Given the description of an element on the screen output the (x, y) to click on. 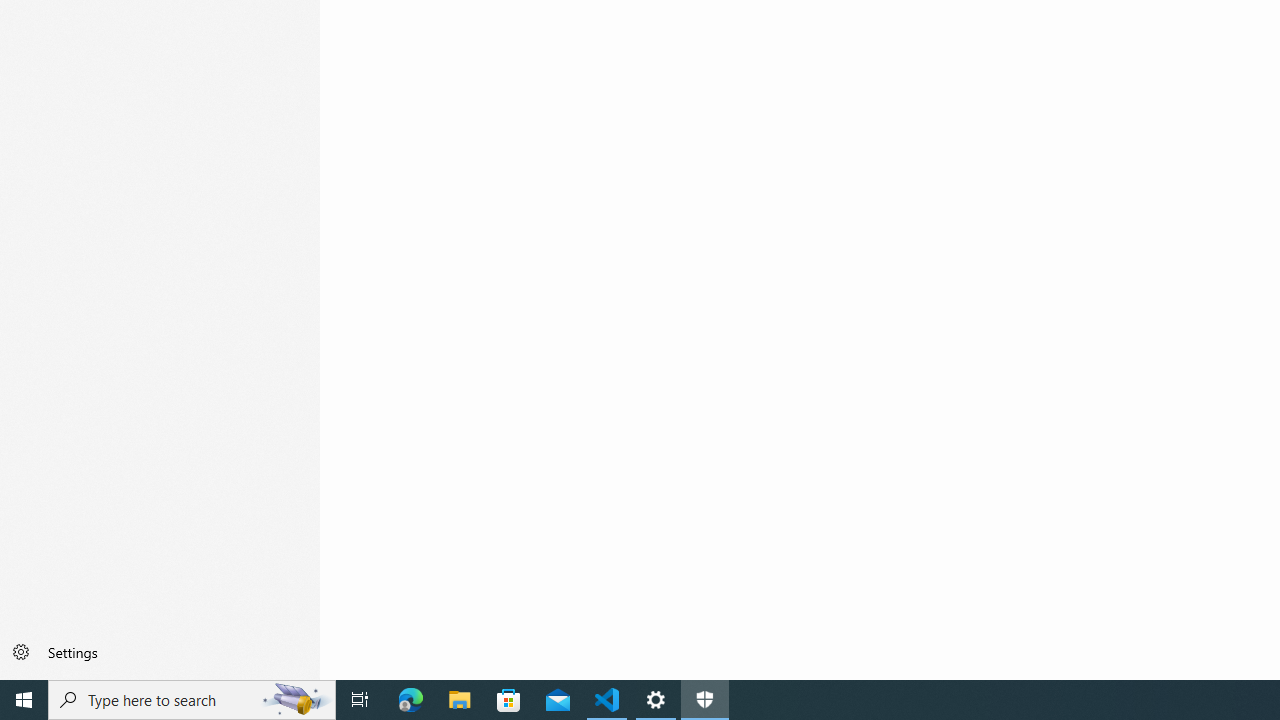
Start (24, 699)
Task View (359, 699)
Type here to search (191, 699)
Visual Studio Code - 1 running window (607, 699)
Search highlights icon opens search home window (295, 699)
File Explorer (460, 699)
Microsoft Store (509, 699)
Settings (160, 651)
Microsoft Edge (411, 699)
Windows Security - 1 running window (704, 699)
Settings - 1 running window (656, 699)
